Given the description of an element on the screen output the (x, y) to click on. 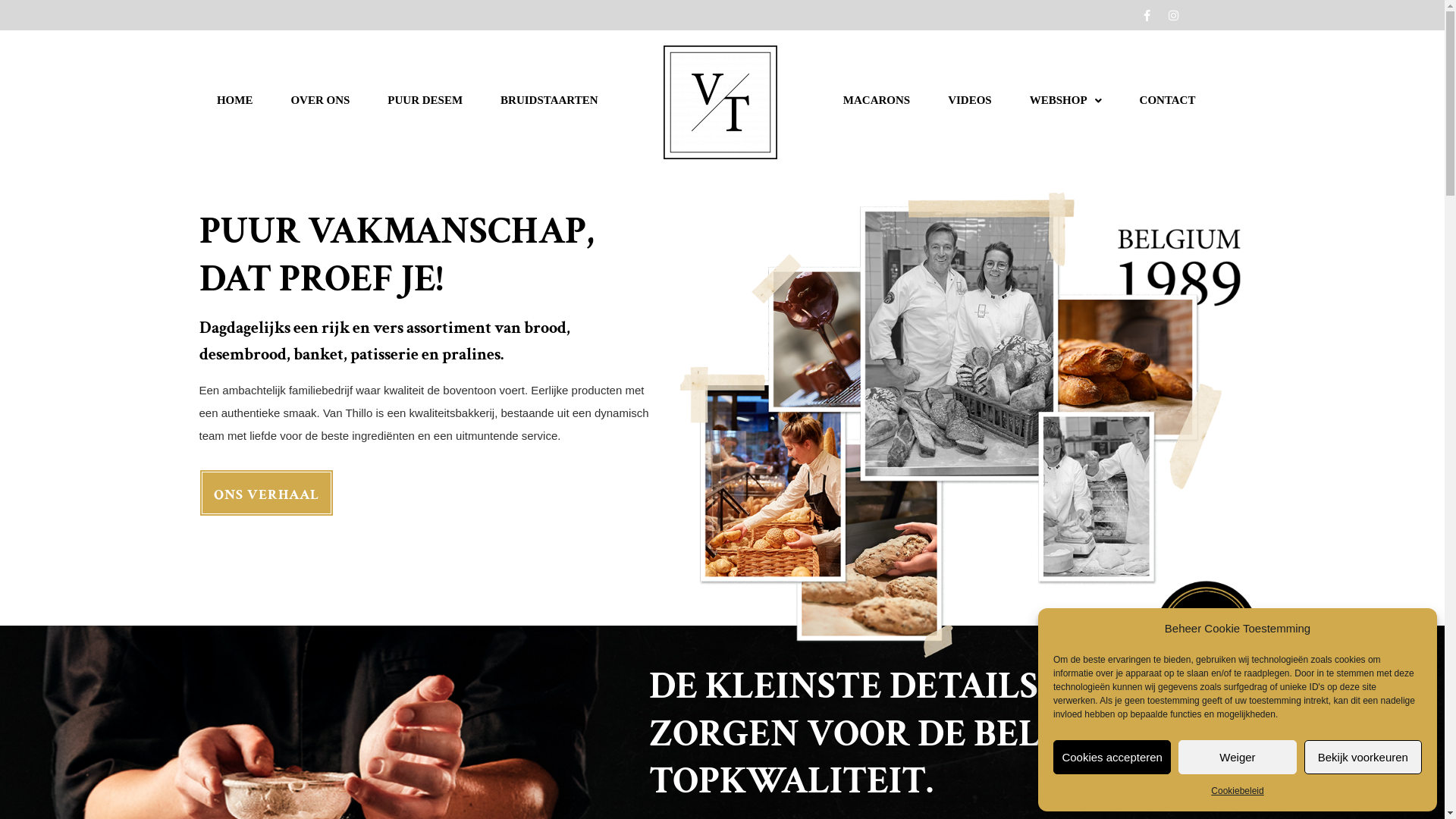
VIDEOS Element type: text (969, 100)
BRUIDSTAARTEN Element type: text (548, 100)
WEBSHOP Element type: text (1065, 100)
Cookies accepteren Element type: text (1111, 757)
Bekijk voorkeuren Element type: text (1362, 757)
Facebook-f Element type: text (1146, 14)
MACARONS Element type: text (876, 100)
Cookiebeleid Element type: text (1237, 790)
OVER ONS Element type: text (319, 100)
PUUR DESEM Element type: text (424, 100)
ONS VERHAAL Element type: text (265, 492)
Weiger Element type: text (1236, 757)
HOME Element type: text (234, 100)
CONTACT Element type: text (1167, 100)
Instagram Element type: text (1172, 14)
